Given the description of an element on the screen output the (x, y) to click on. 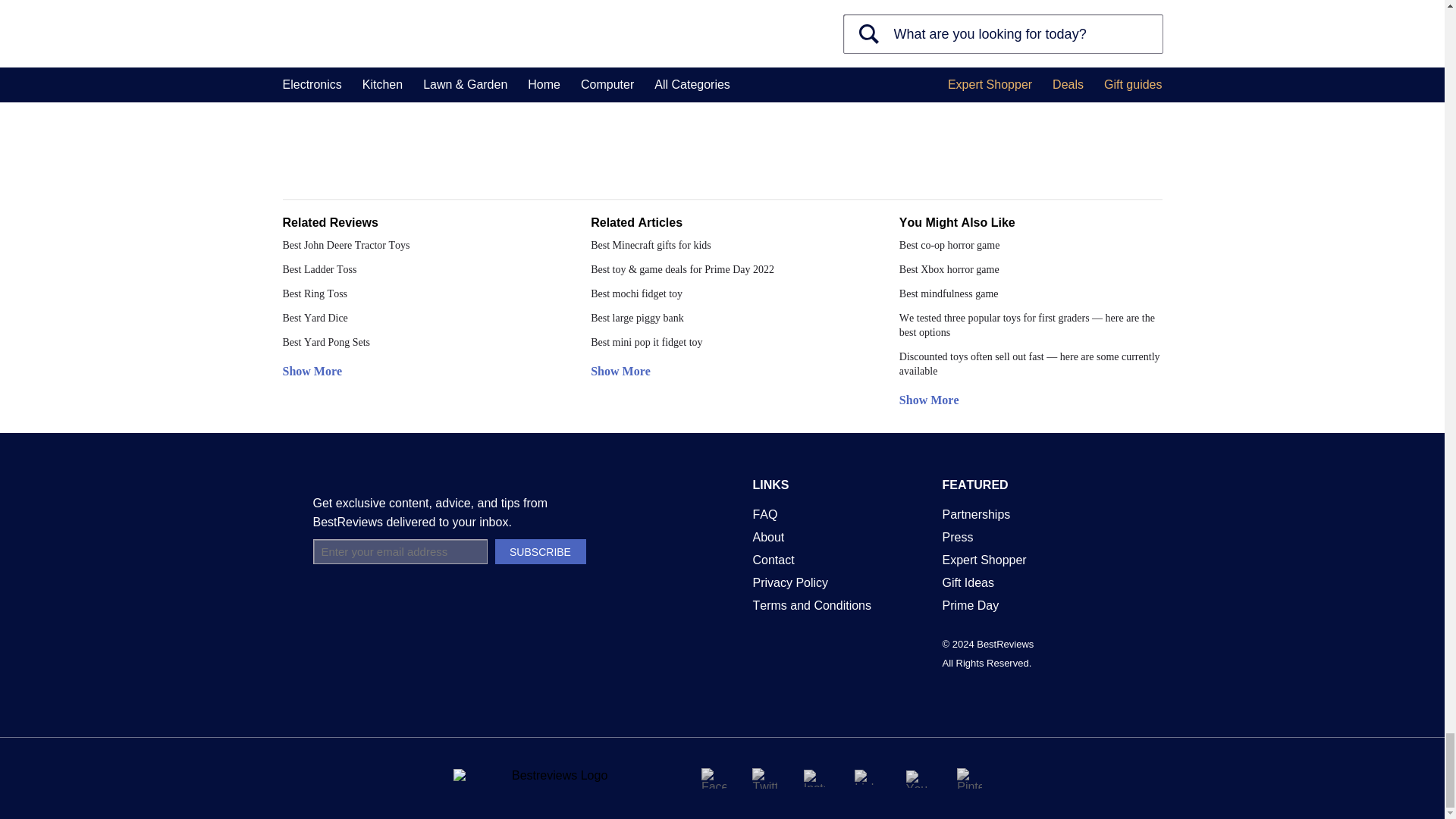
Frequently asked questions (764, 513)
Contact Us (772, 559)
Subscribe email (399, 551)
